Given the description of an element on the screen output the (x, y) to click on. 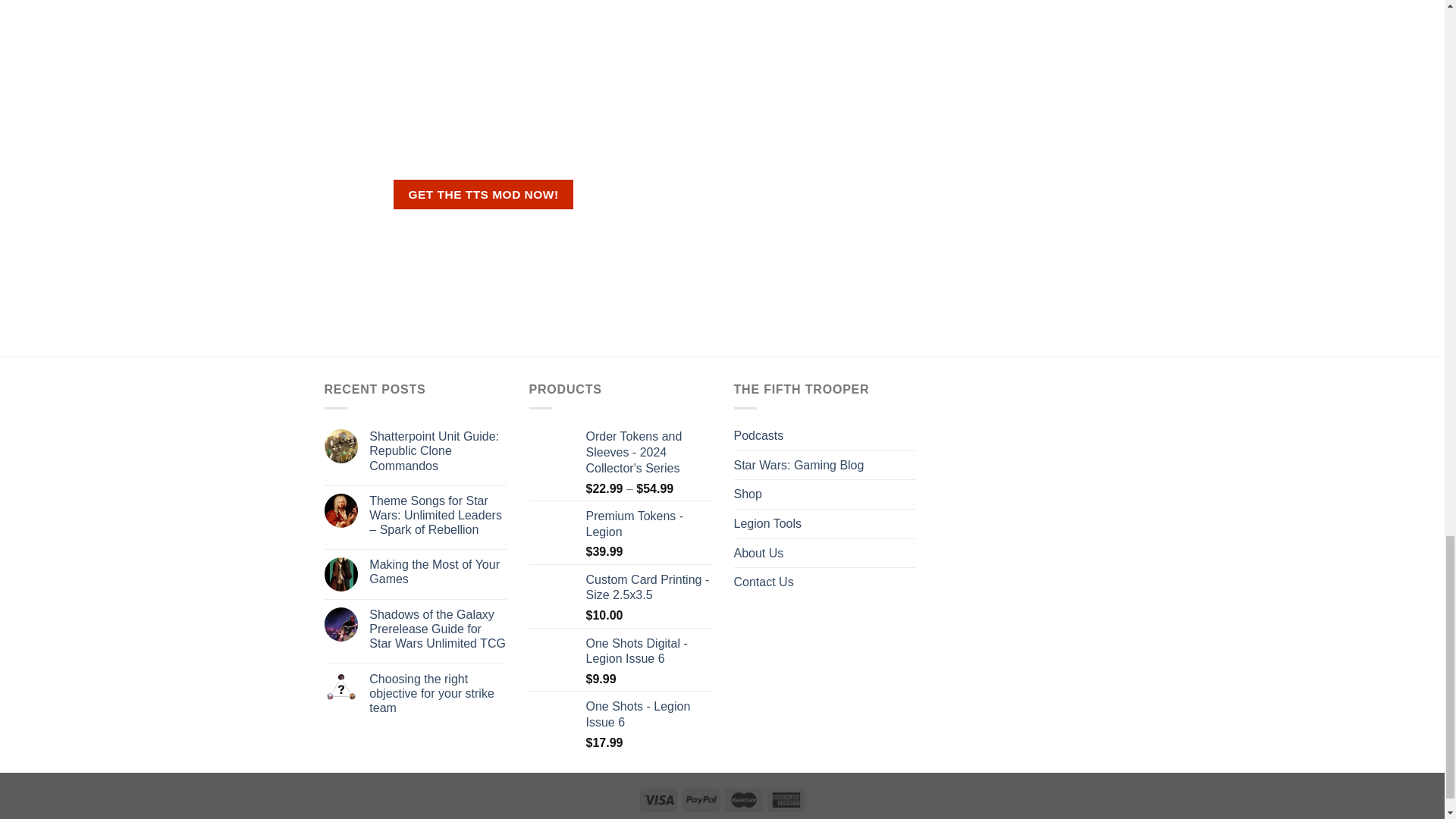
Shatterpoint Unit Guide: Republic Clone Commandos (437, 451)
Making the Most of Your Games (437, 571)
Choosing the right objective for your strike team (437, 693)
GET THE TTS MOD NOW! (483, 194)
